Given the description of an element on the screen output the (x, y) to click on. 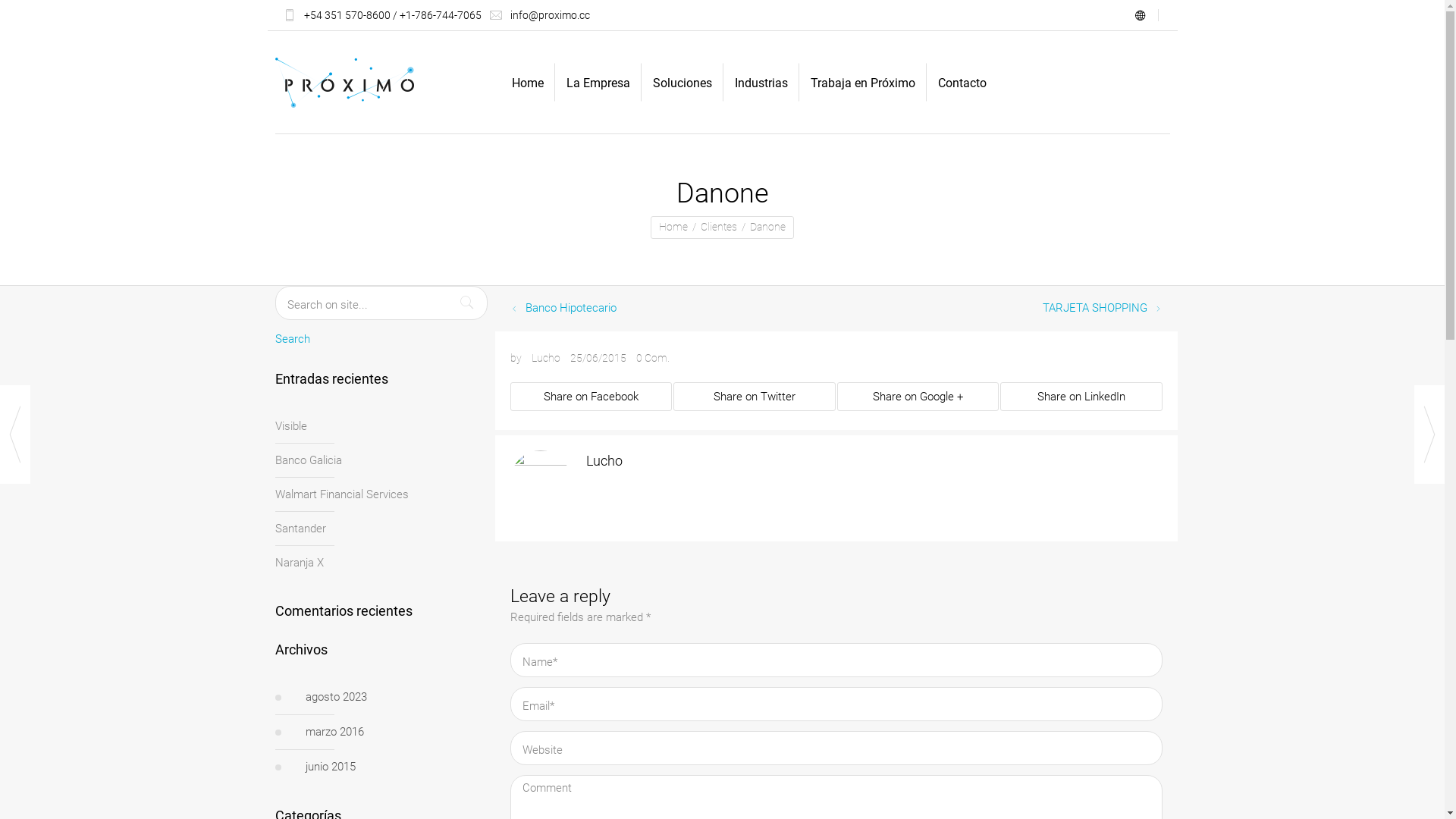
Visible Element type: text (290, 426)
Clientes Element type: text (718, 225)
Naranja X Element type: text (298, 562)
Share on Facebook Element type: text (590, 396)
Banco Galicia Element type: text (307, 460)
Search Element type: text (291, 340)
Share on Google + Element type: text (918, 396)
Industrias Element type: text (761, 82)
TARJETA SHOPPING Element type: text (1093, 307)
Share on LinkedIn Element type: text (1081, 396)
Walmart Financial Services Element type: text (340, 494)
0 Com. Element type: text (651, 356)
marzo 2016 Element type: text (395, 731)
Soluciones Element type: text (682, 82)
Contacto Element type: text (961, 82)
Santander Element type: text (299, 528)
La Empresa Element type: text (598, 82)
Share on Twitter Element type: text (754, 396)
Banco Hipotecario Element type: text (569, 307)
Home Element type: text (527, 82)
Home Element type: text (672, 225)
agosto 2023 Element type: text (395, 696)
junio 2015 Element type: text (395, 766)
Lucho Element type: text (544, 357)
